Given the description of an element on the screen output the (x, y) to click on. 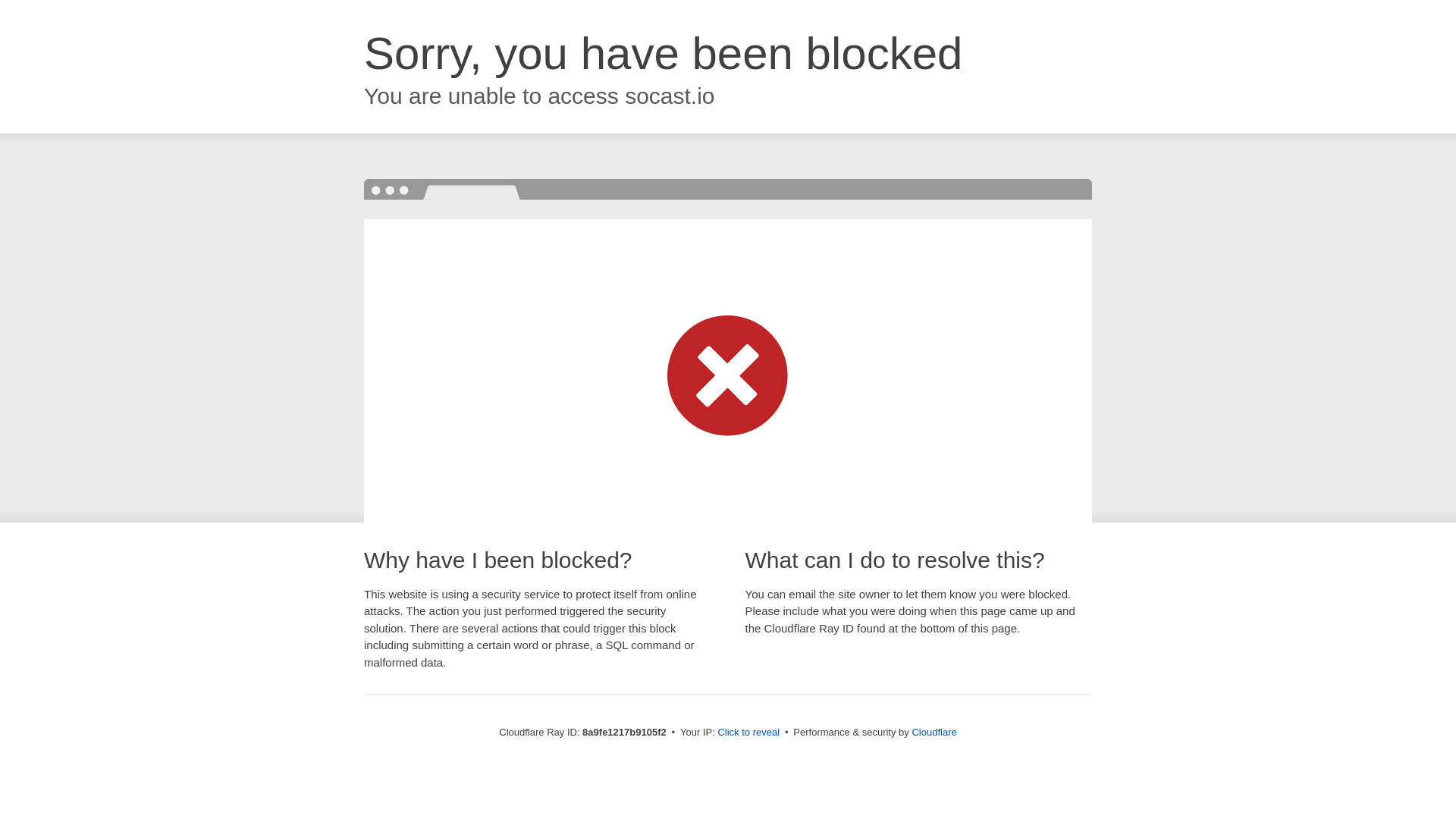
Cloudflare (933, 731)
Click to reveal (747, 732)
